Given the description of an element on the screen output the (x, y) to click on. 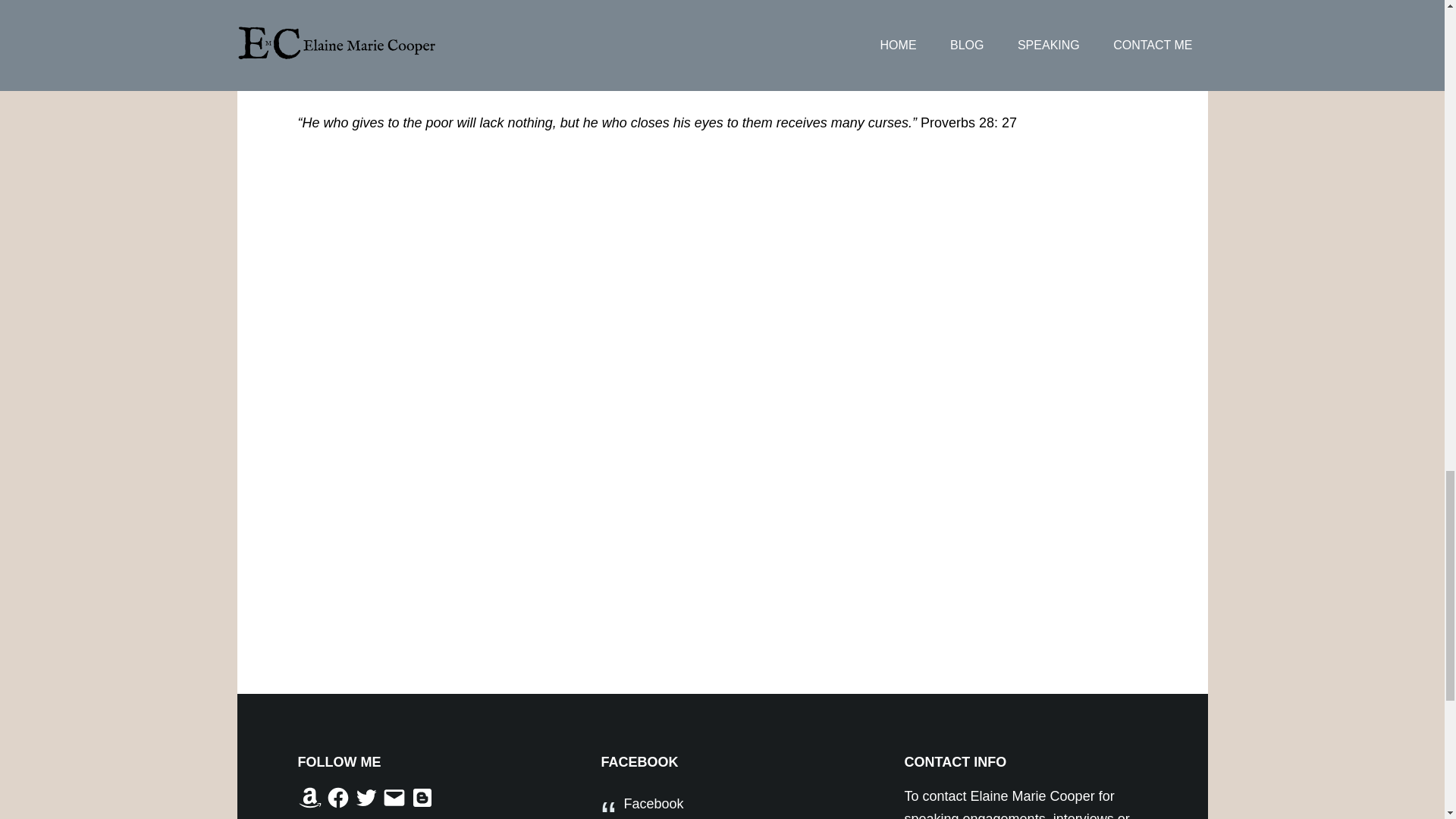
Amazon (309, 797)
Facebook (338, 797)
Email (393, 797)
Twitter (365, 797)
Facebook (652, 803)
Blogger (421, 797)
FACEBOOK (638, 761)
